Given the description of an element on the screen output the (x, y) to click on. 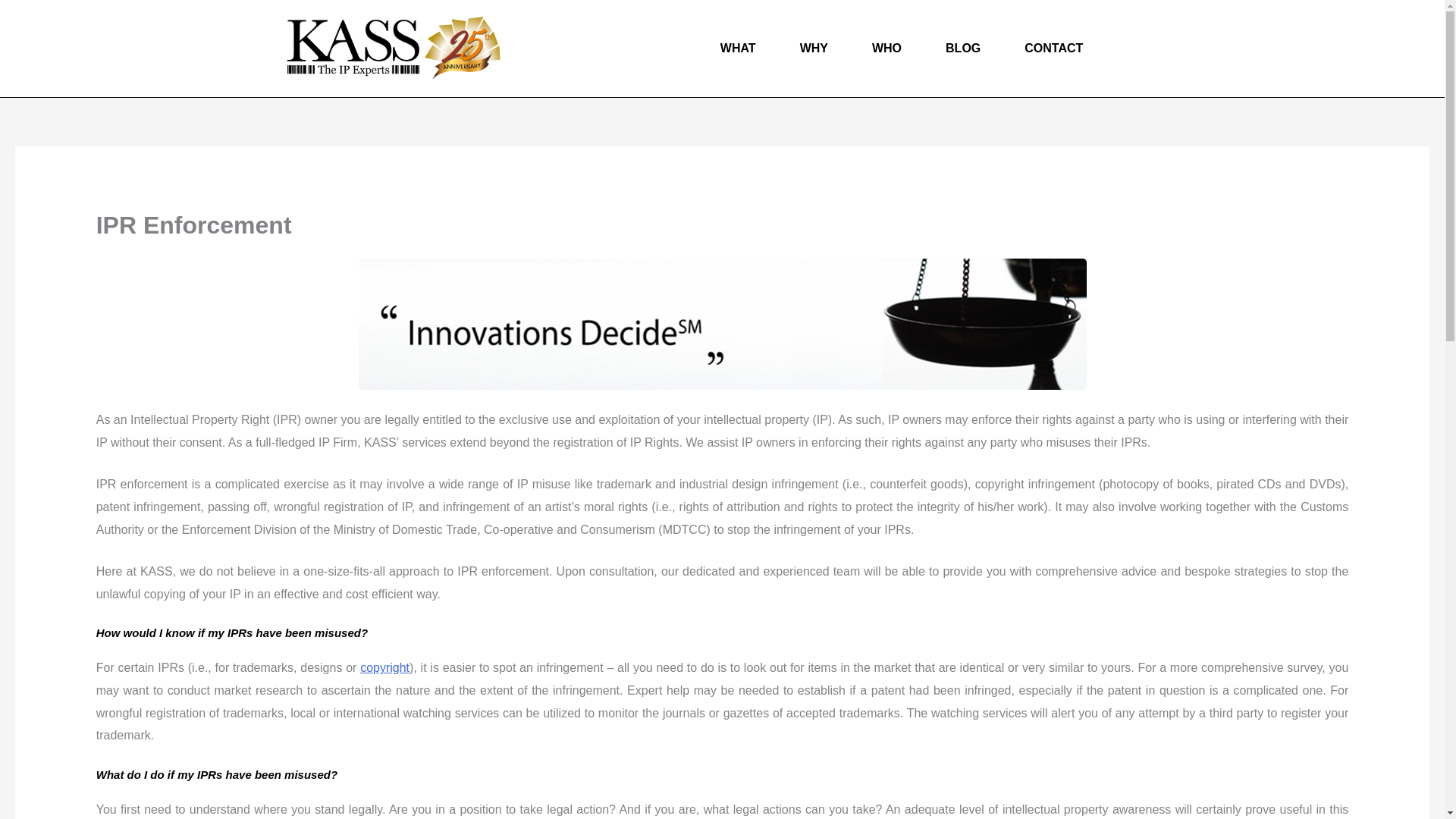
WHO (886, 48)
WHY (813, 48)
WHAT (737, 48)
